Given the description of an element on the screen output the (x, y) to click on. 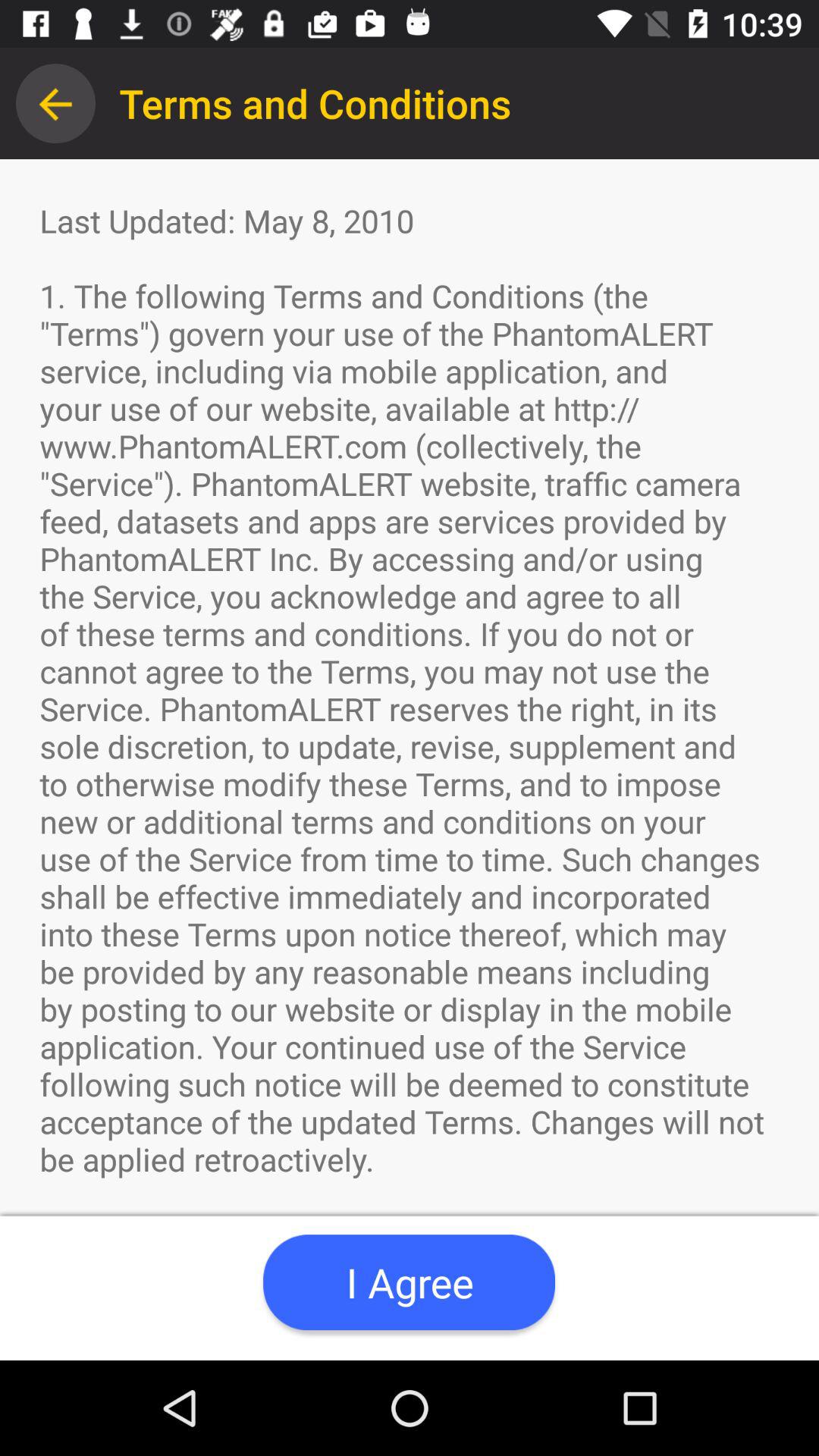
open app below the terms and conditions app (409, 1282)
